Given the description of an element on the screen output the (x, y) to click on. 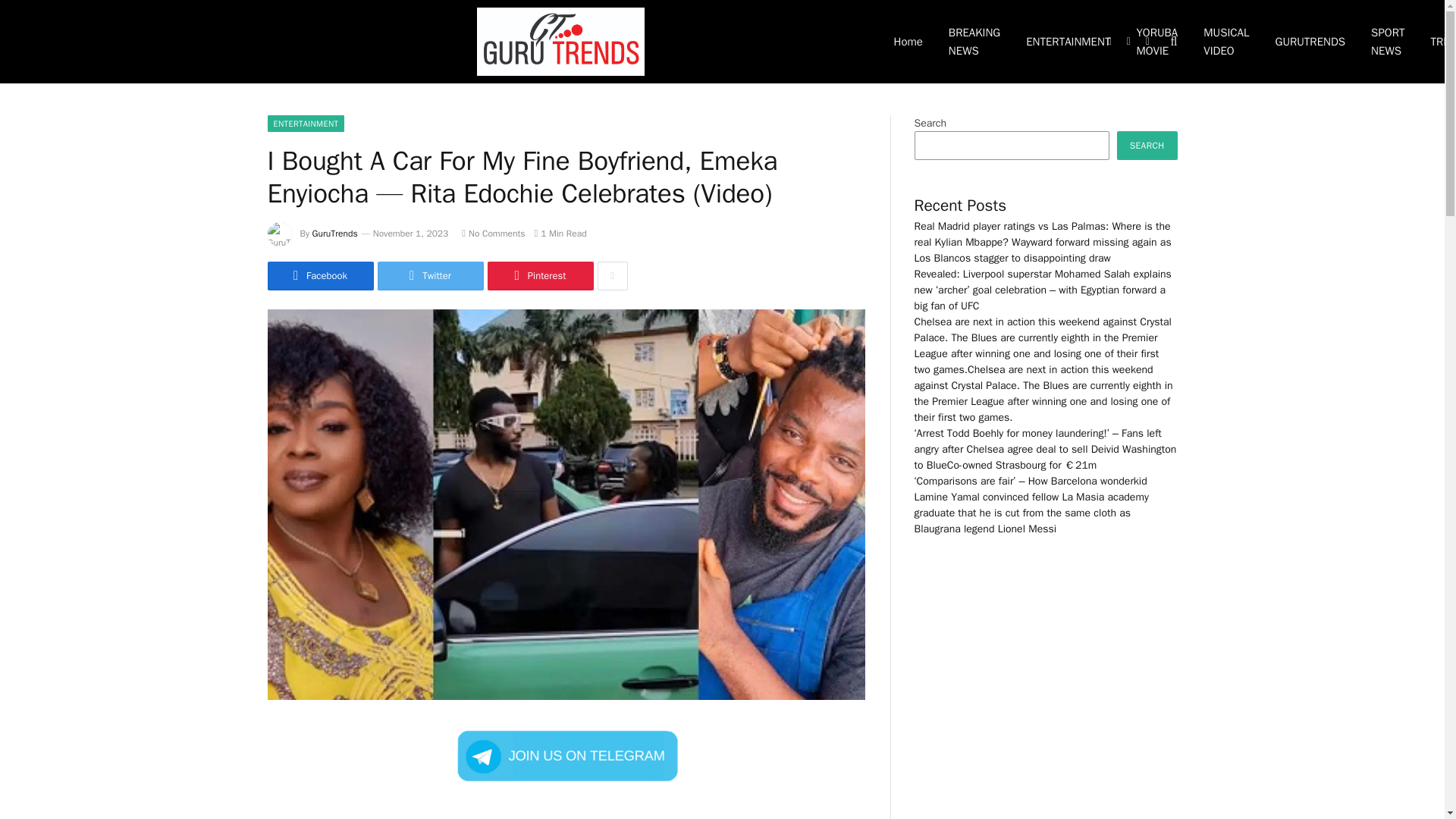
Share on Pinterest (539, 275)
GuruTrends (335, 233)
BREAKING NEWS (974, 41)
Show More Social Sharing (611, 275)
Facebook (319, 275)
GuruTrends (559, 41)
ENTERTAINMENT (304, 123)
Share on Facebook (319, 275)
Twitter (430, 275)
Pinterest (539, 275)
